Given the description of an element on the screen output the (x, y) to click on. 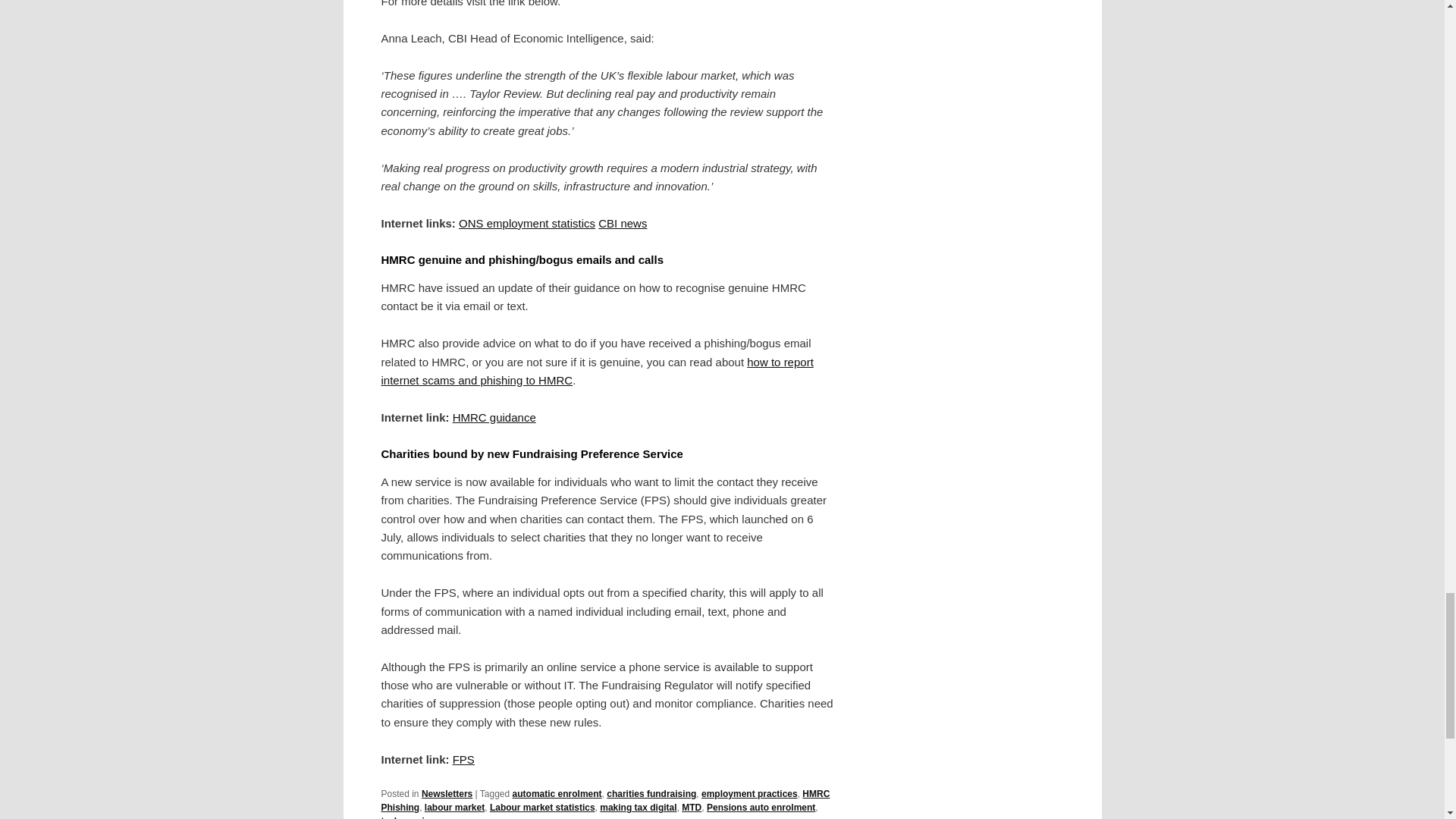
taylor review (407, 817)
HMRC Phishing (604, 800)
Labour market statistics (542, 807)
automatic enrolment (557, 793)
charities fundraising (651, 793)
FPS (463, 758)
Pensions auto enrolment (760, 807)
CBI news (622, 223)
ONS employment statistics (526, 223)
employment practices (749, 793)
Newsletters (446, 793)
how to report internet scams and phishing to HMRC (596, 369)
making tax digital (638, 807)
labour market (454, 807)
HMRC guidance (493, 417)
